Given the description of an element on the screen output the (x, y) to click on. 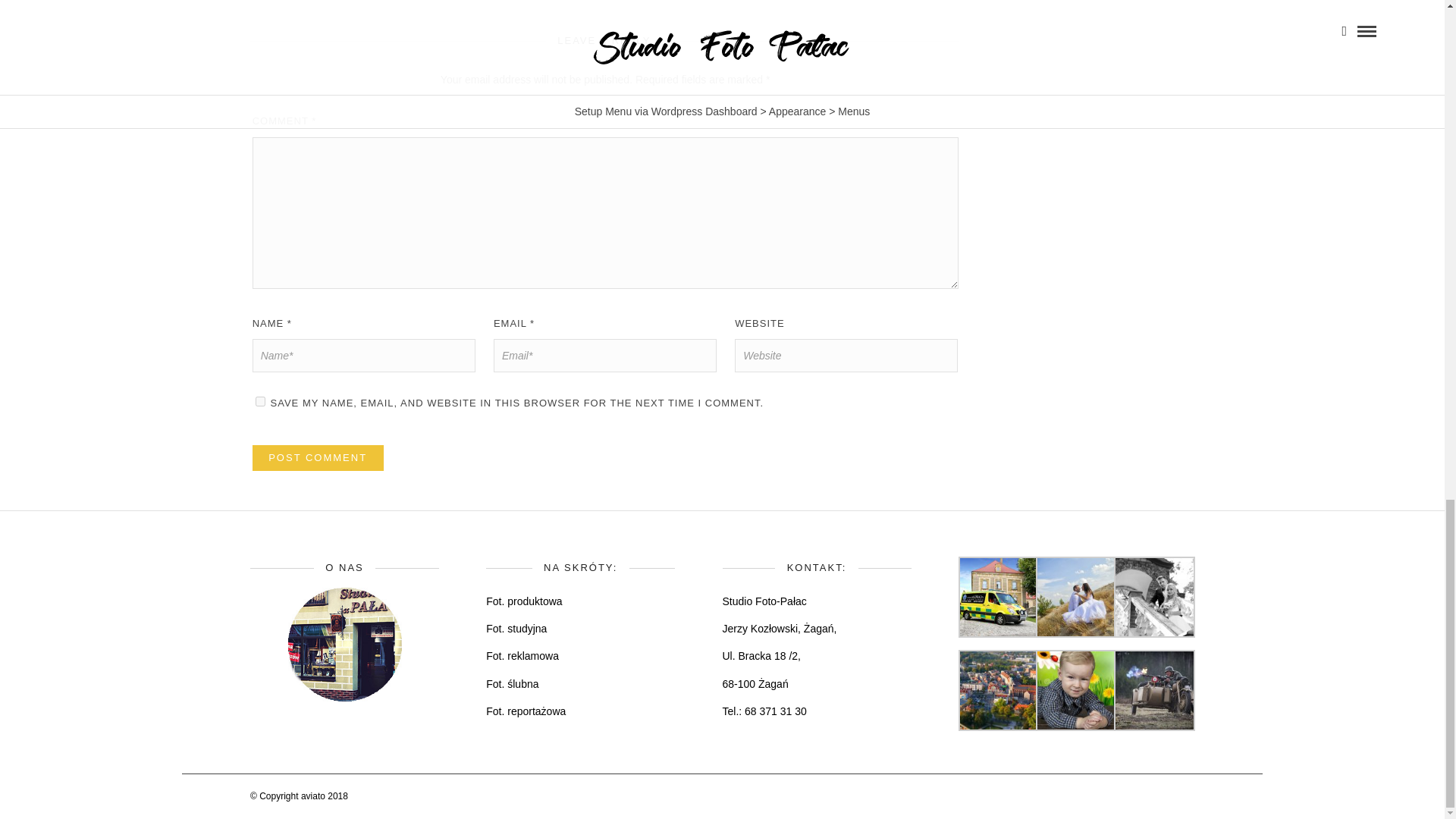
Fot. produktowa (524, 601)
aviato (314, 796)
Fot. reklamowa (522, 655)
Fot. studyjna (516, 628)
Post Comment (317, 457)
yes (260, 401)
Post Comment (317, 457)
2018 (337, 796)
